Given the description of an element on the screen output the (x, y) to click on. 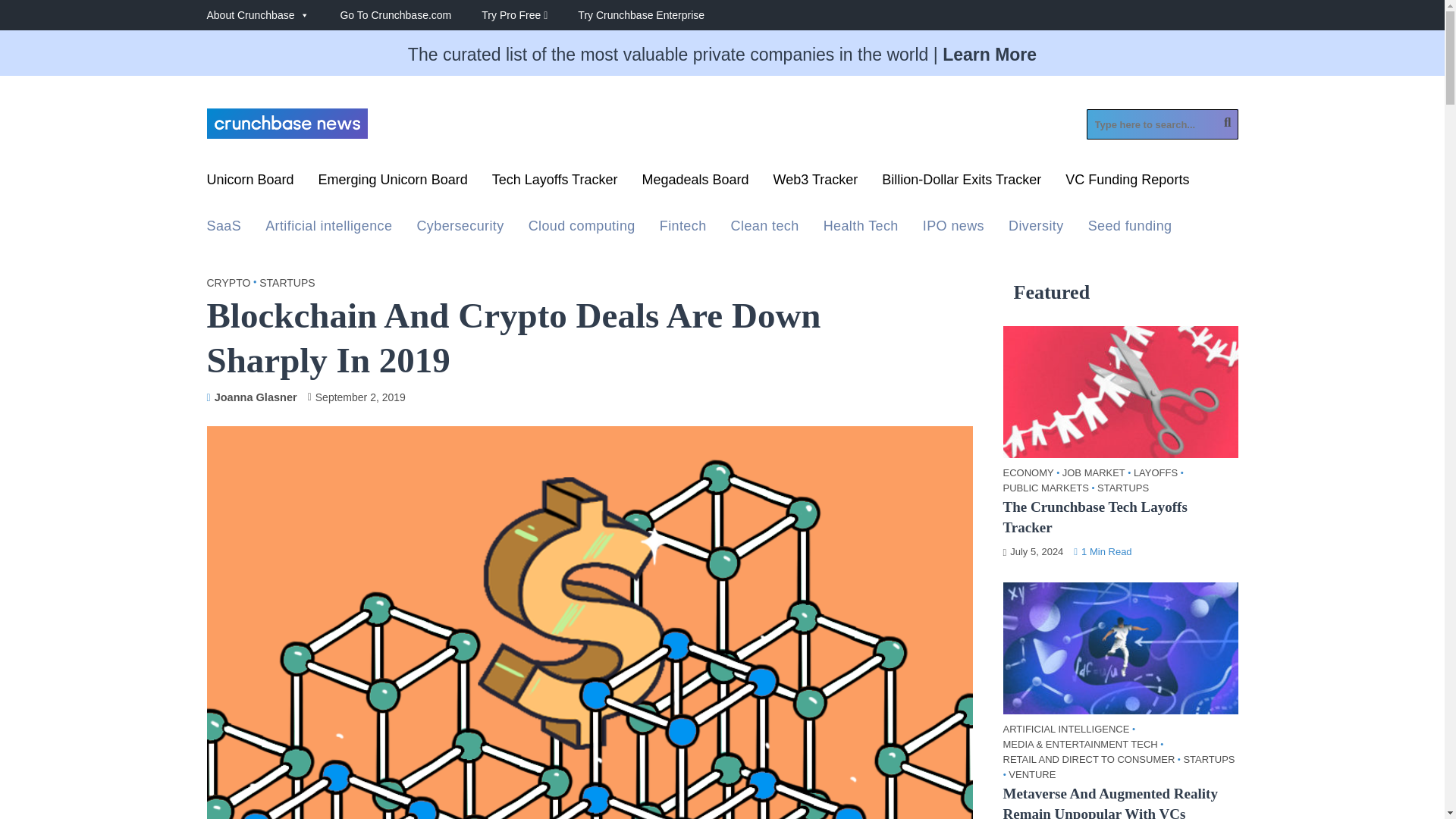
Billion-Dollar Exits Tracker (961, 183)
Unicorn Board (250, 183)
VC Funding Reports (1136, 183)
About Crunchbase (272, 15)
Web3 Tracker (816, 183)
Try Crunchbase Enterprise (656, 15)
Tech Layoffs Tracker (554, 183)
Megadeals Board (695, 183)
Go To Crunchbase.com (410, 15)
Try Pro Free (529, 15)
Emerging Unicorn Board (392, 183)
